Given the description of an element on the screen output the (x, y) to click on. 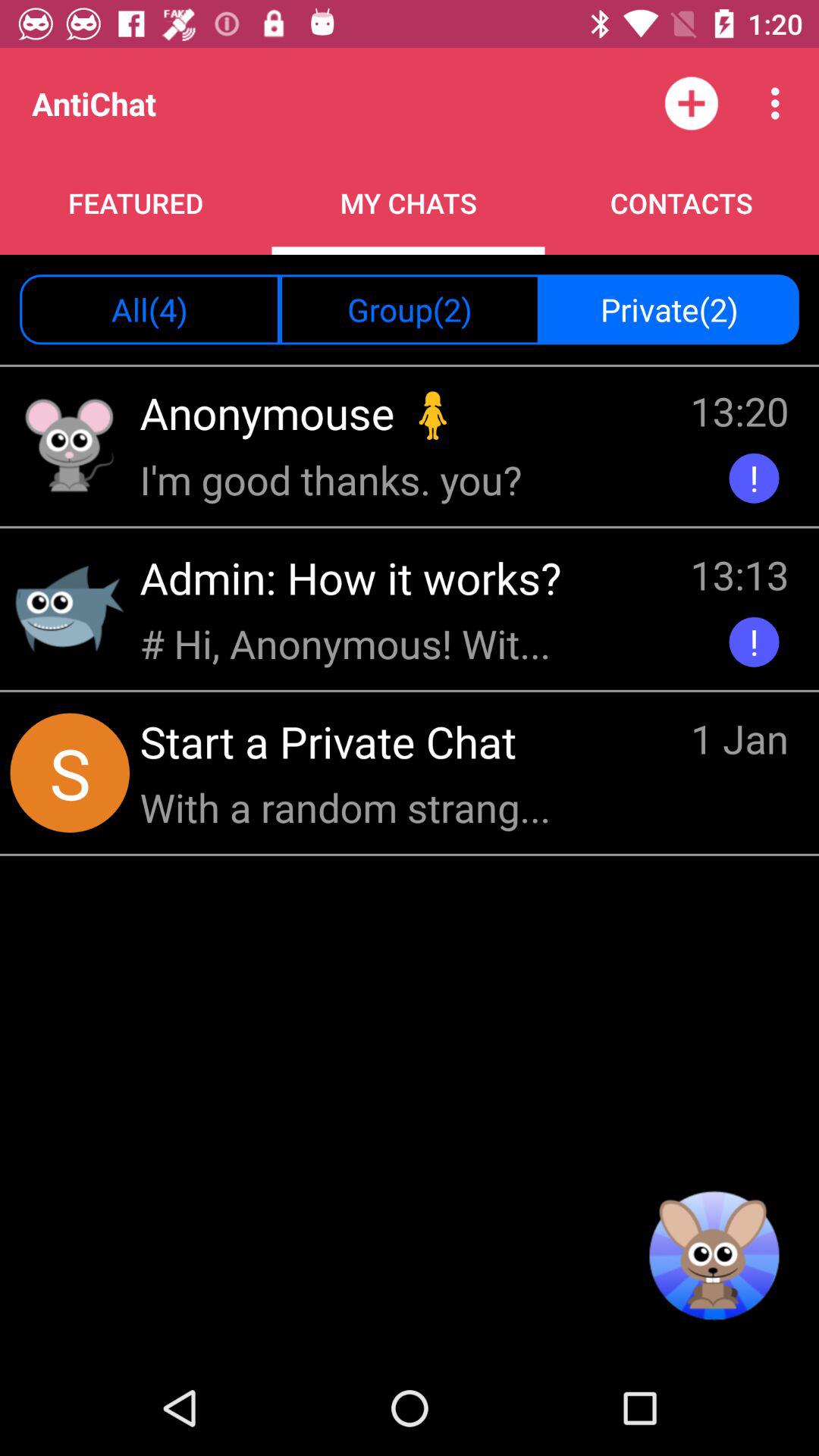
open the item to the left of the start a private (69, 772)
